Given the description of an element on the screen output the (x, y) to click on. 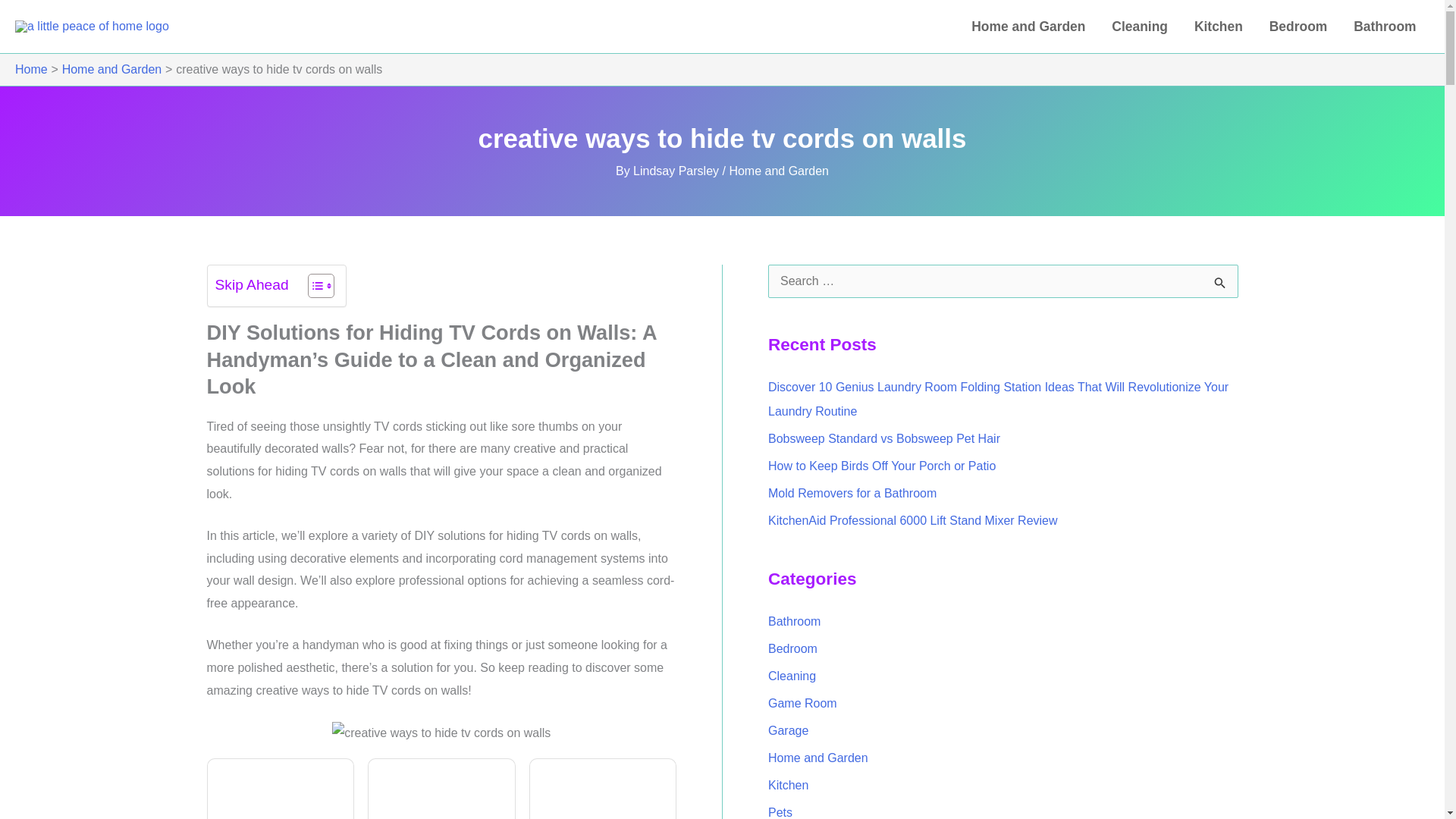
Bedroom (1297, 26)
Kitchen (1217, 26)
Home and Garden (778, 170)
Cleaning (1139, 26)
creative ways to hide tv cords on walls (440, 732)
Lindsay Parsley (677, 170)
Home (31, 69)
Bathroom (1384, 26)
View all posts by Lindsay Parsley (677, 170)
